Given the description of an element on the screen output the (x, y) to click on. 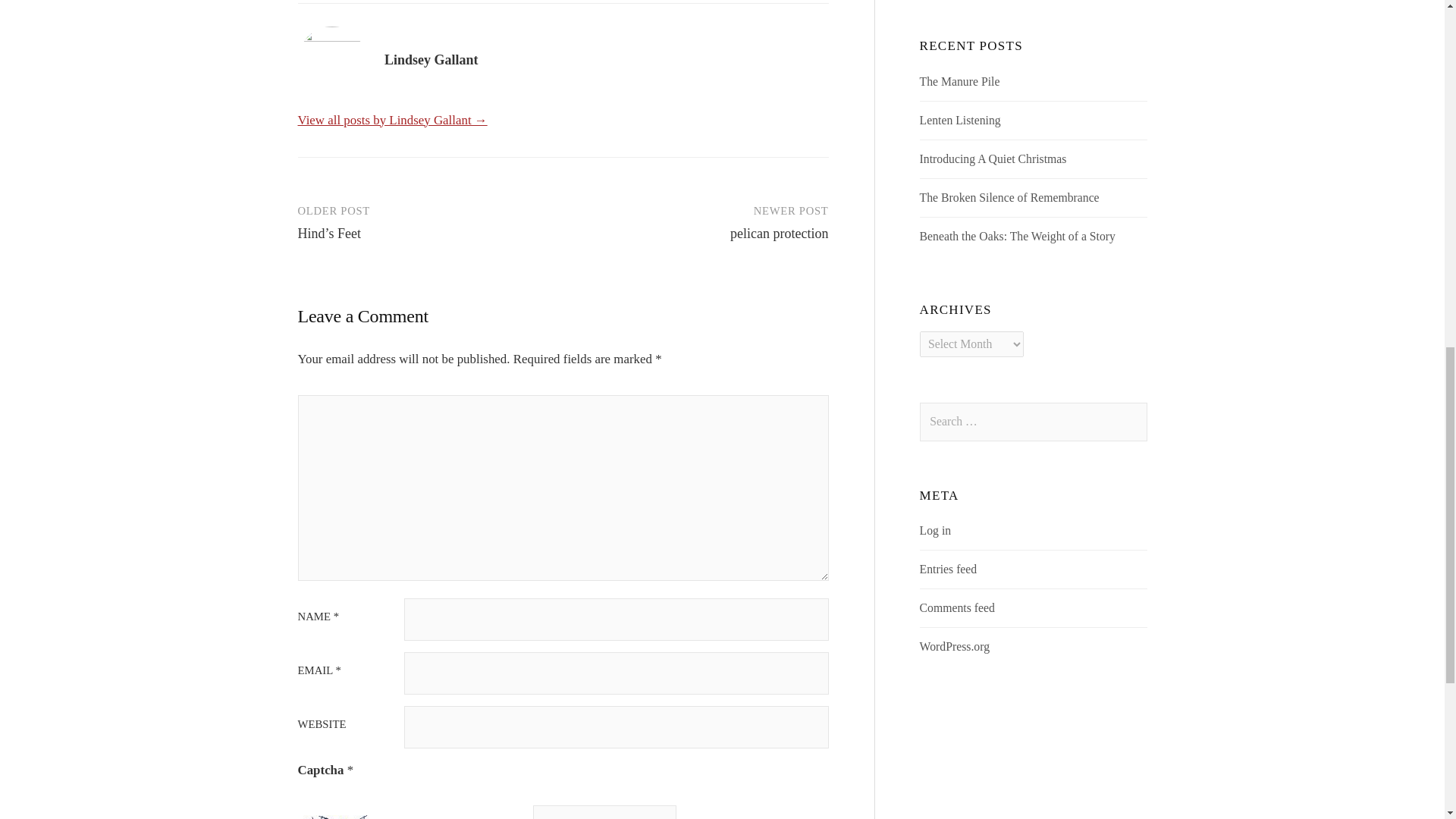
Comments feed (957, 607)
Log in (936, 530)
The Manure Pile (960, 81)
The Broken Silence of Remembrance (1009, 196)
pelican protection (779, 233)
Lenten Listening (960, 119)
Introducing A Quiet Christmas (993, 158)
Beneath the Oaks: The Weight of a Story (1017, 236)
WordPress.org (955, 645)
Entries feed (948, 568)
